Given the description of an element on the screen output the (x, y) to click on. 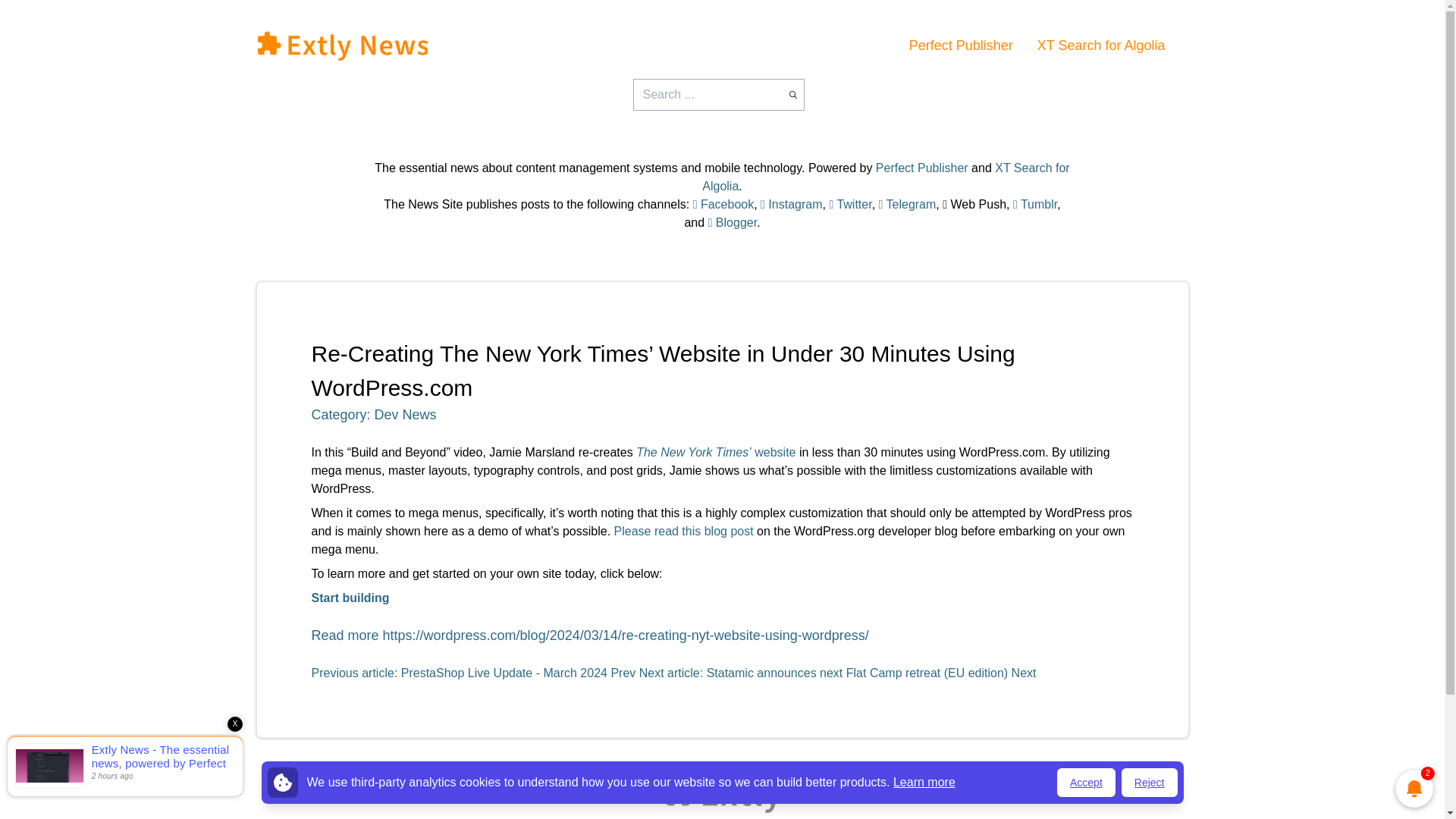
Twitter (849, 204)
Blogger (732, 222)
Previous article: PrestaShop Live Update - March 2024 Prev (475, 672)
Perfect Publisher (960, 45)
Dev News (405, 414)
Start building (349, 597)
Facebook (723, 204)
Please read this blog post (684, 530)
Extly News (341, 45)
Instagram (791, 204)
Learn more (924, 781)
Tumblr (1035, 204)
Perfect Publisher (922, 167)
XT Search for Algolia (884, 176)
Reject (1149, 782)
